Given the description of an element on the screen output the (x, y) to click on. 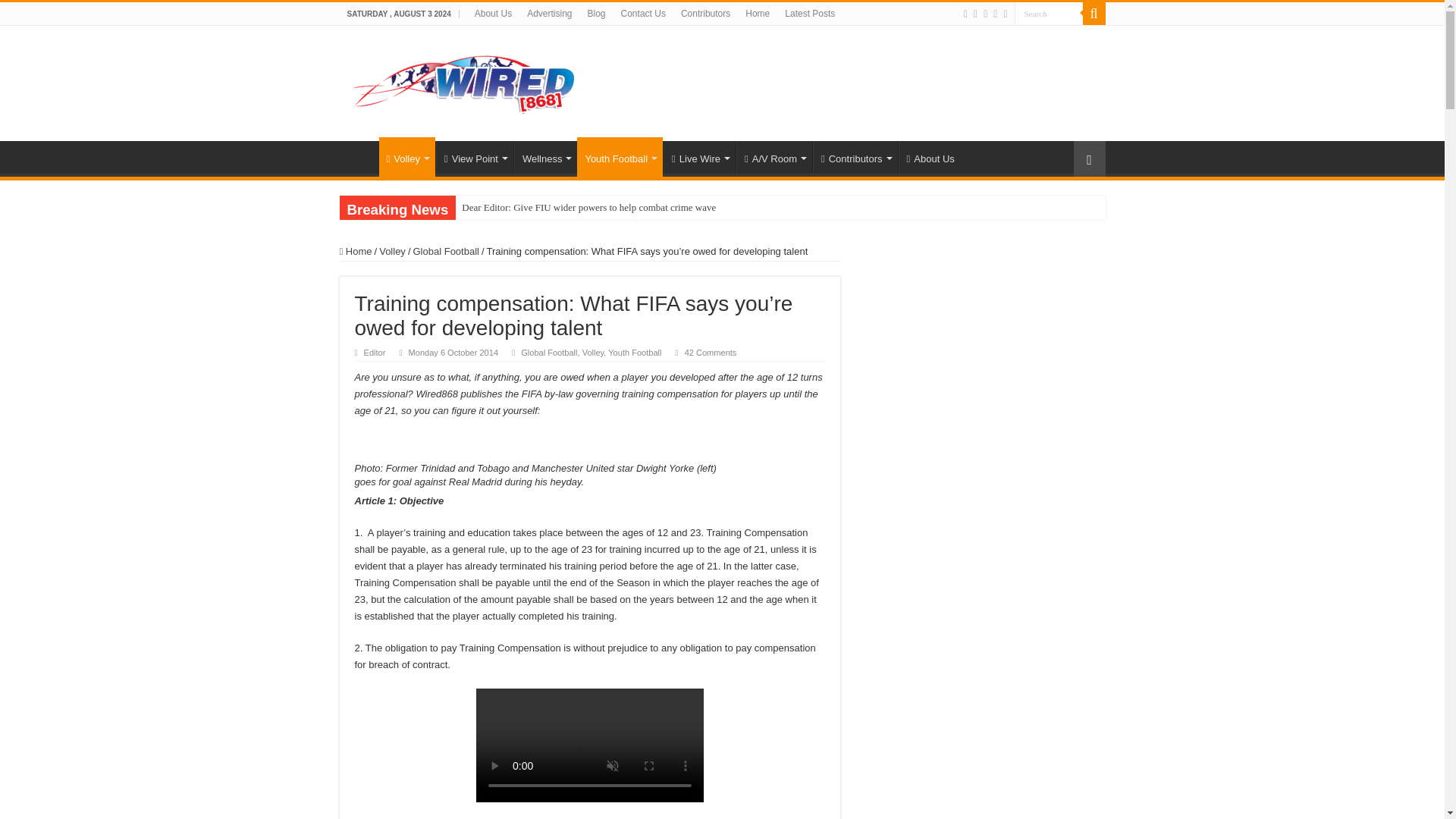
View Point (474, 156)
Search (1048, 13)
About Us (493, 13)
Search (1048, 13)
Search (1048, 13)
Latest Posts (810, 13)
Blog (595, 13)
Home (358, 156)
Wired868 (464, 80)
Search (1094, 13)
Contact Us (642, 13)
Volley (406, 156)
Home (757, 13)
Contributors (705, 13)
Advertising (549, 13)
